Given the description of an element on the screen output the (x, y) to click on. 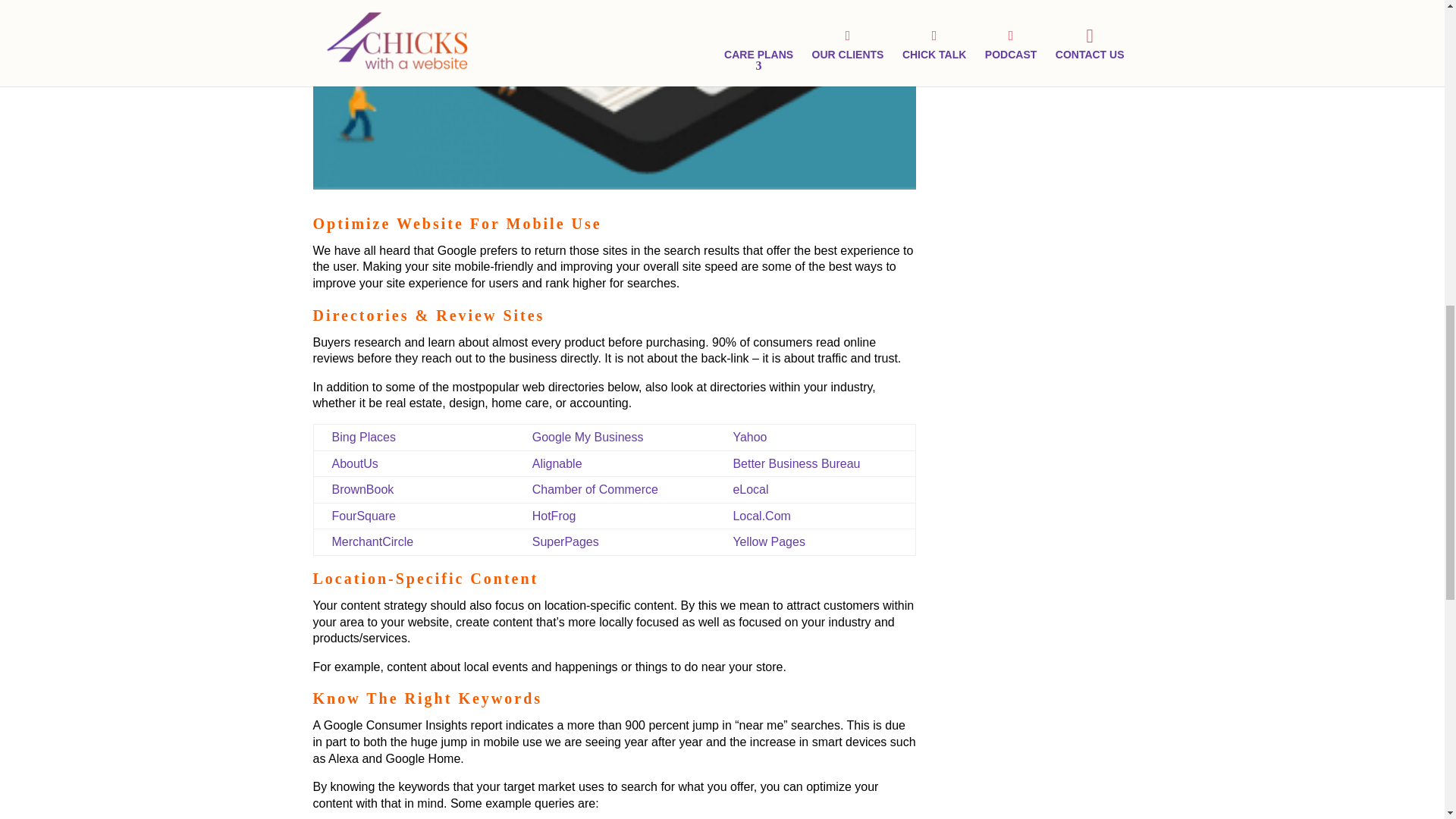
FourSquare (363, 515)
Local.Com (761, 515)
MerchantCircle (372, 541)
AboutUs (354, 463)
Bing Places (363, 436)
Alignable (557, 463)
BrownBook (362, 489)
5 Local SEO Tips To Attract Customers (614, 94)
Google My Business (587, 436)
SuperPages (565, 541)
